Given the description of an element on the screen output the (x, y) to click on. 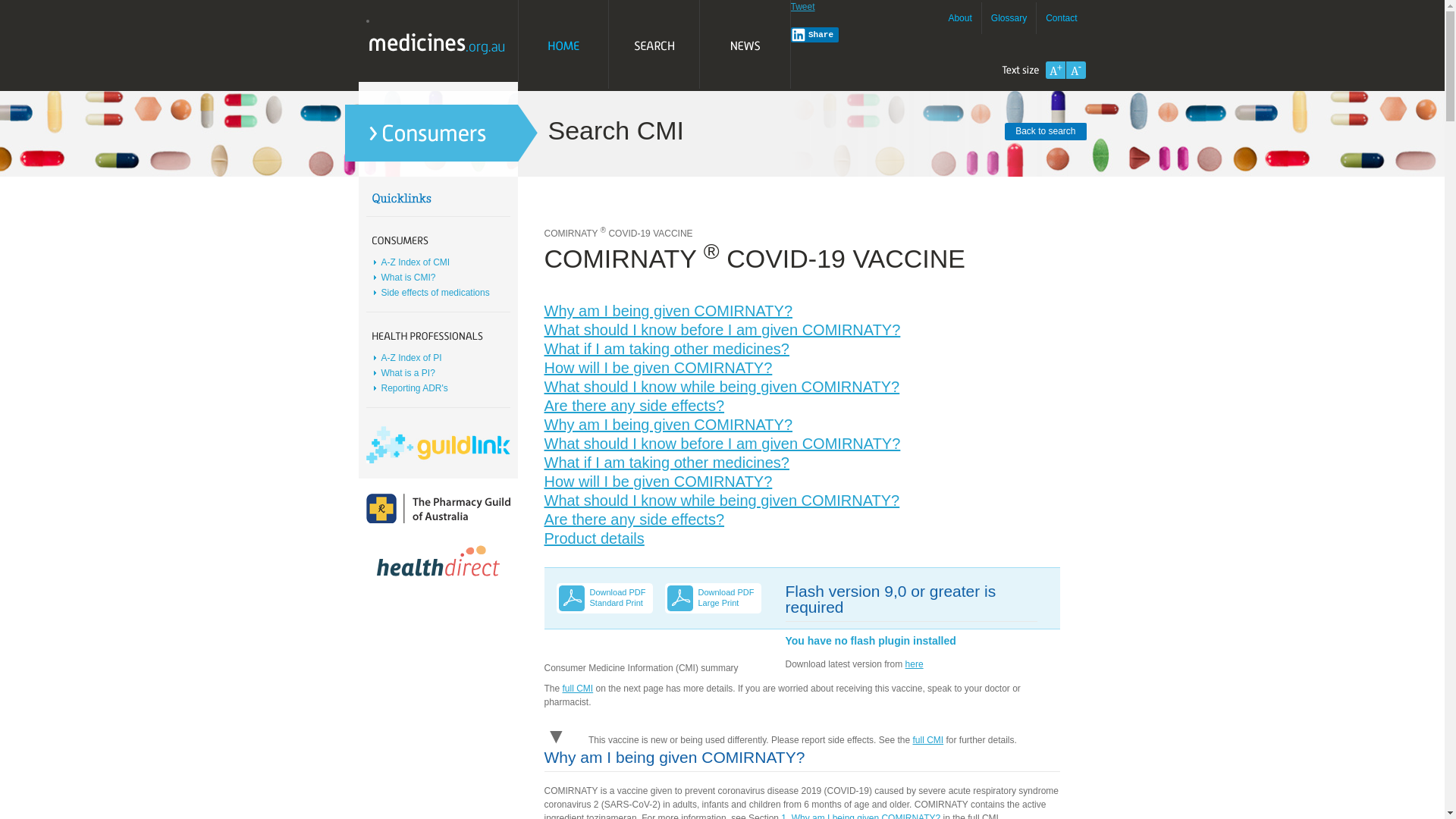
Decrease Element type: text (1075, 69)
What should I know before I am given COMIRNATY? Element type: text (722, 329)
Search Element type: text (653, 45)
How will I be given COMIRNATY? Element type: text (658, 367)
What if I am taking other medicines? Element type: text (666, 462)
Reporting ADR's Element type: text (413, 387)
A-Z Index of CMI Element type: text (414, 262)
What is CMI? Element type: text (407, 277)
full CMI Element type: text (577, 688)
What if I am taking other medicines? Element type: text (666, 348)
About Element type: text (959, 17)
Are there any side effects? Element type: text (634, 519)
Tweet Element type: text (802, 6)
Side effects of medications Element type: text (434, 292)
Home Element type: text (562, 45)
here Element type: text (914, 663)
Contact Element type: text (1060, 17)
Why am I being given COMIRNATY? Element type: text (668, 424)
What is a PI? Element type: text (407, 372)
Product details Element type: text (594, 538)
Why am I being given COMIRNATY? Element type: text (668, 310)
News Element type: text (744, 45)
What should I know while being given COMIRNATY? Element type: text (722, 500)
full CMI Element type: text (927, 739)
Glossary Element type: text (1008, 17)
Download PDF Large Print Element type: text (728, 597)
How will I be given COMIRNATY? Element type: text (658, 481)
A-Z Index of PI Element type: text (410, 357)
Increase Element type: text (1054, 69)
What should I know while being given COMIRNATY? Element type: text (722, 386)
Back to search Element type: text (1044, 131)
Are there any side effects? Element type: text (634, 405)
Download PDF Standard Print Element type: text (620, 597)
What should I know before I am given COMIRNATY? Element type: text (722, 443)
Share Element type: text (814, 34)
